Given the description of an element on the screen output the (x, y) to click on. 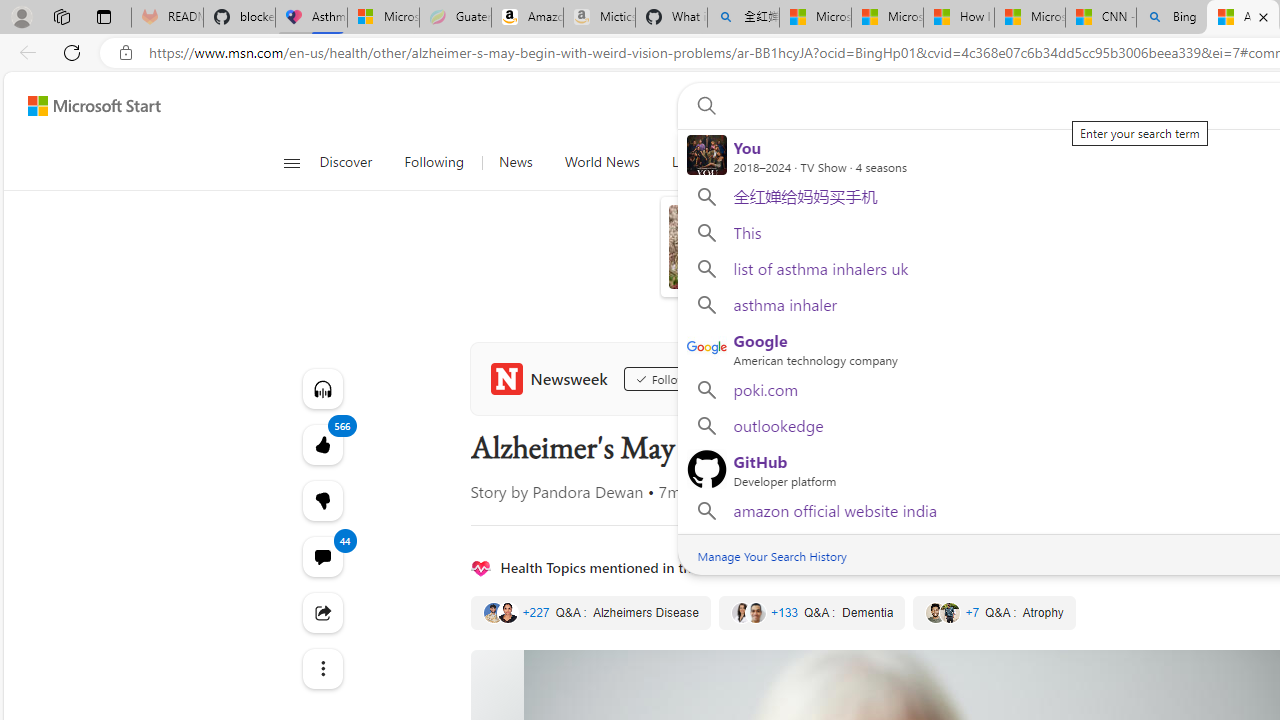
World News (601, 162)
Class: at-item (322, 668)
566 Like (322, 444)
Asthma Inhalers: Names and Types (311, 17)
CNN - MSN (1101, 17)
Technology (848, 162)
Local (687, 162)
Science (758, 162)
Local (687, 162)
Skip to footer (82, 105)
Entertainment (1102, 162)
